Given the description of an element on the screen output the (x, y) to click on. 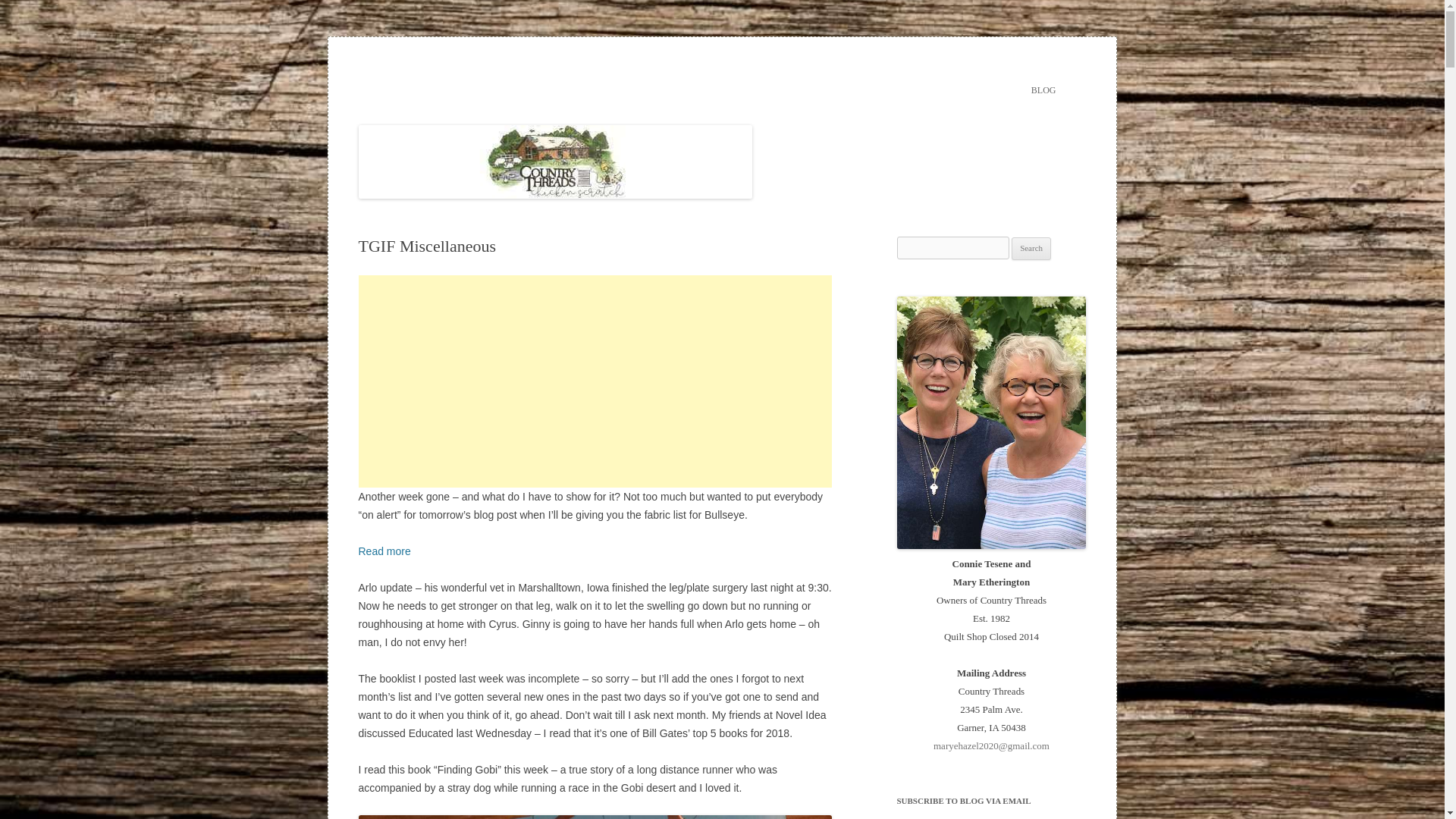
Country Threads Chicken Scratch (502, 73)
Advertisement (594, 381)
Read more (384, 551)
Search (1031, 248)
